Given the description of an element on the screen output the (x, y) to click on. 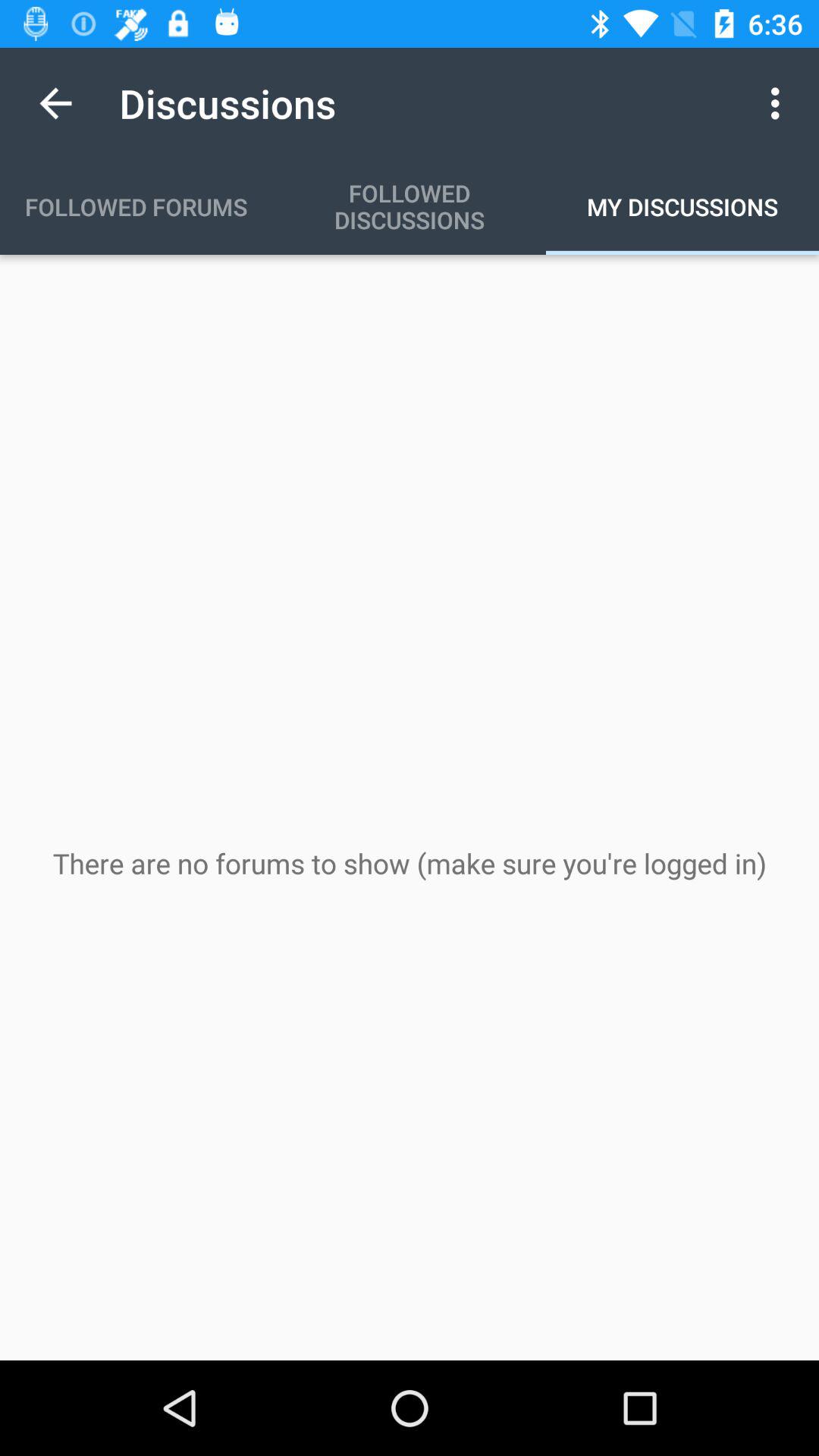
launch the app to the left of discussions app (55, 103)
